Given the description of an element on the screen output the (x, y) to click on. 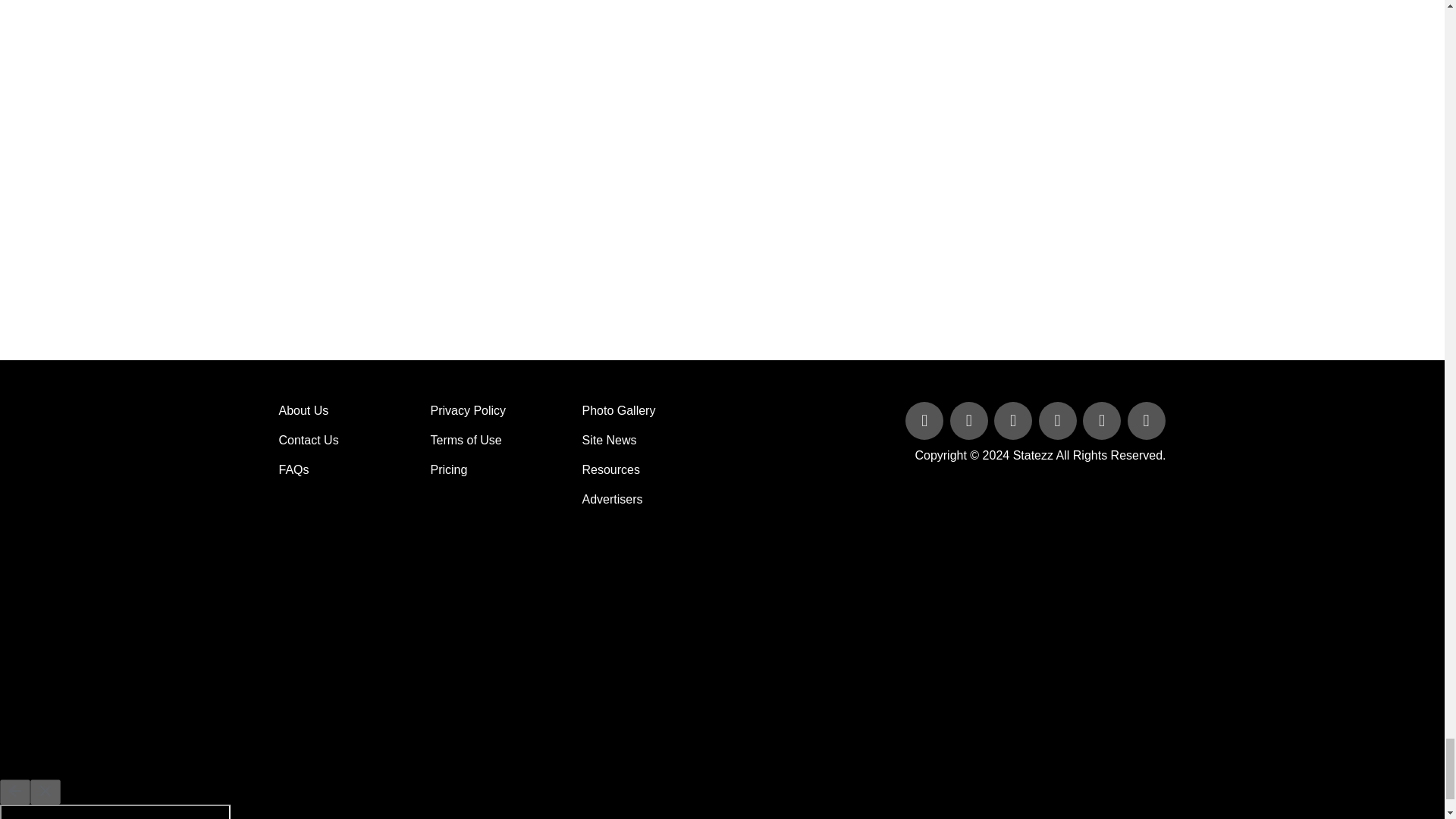
Follow Us on Twitter (970, 421)
Follow Us on Pinterest (1103, 421)
Follow Us on Facebook (925, 421)
Follow Us on Linked In (1014, 421)
Follow Us on You Tube (1058, 421)
Follow Us on Instagram (1145, 421)
